Given the description of an element on the screen output the (x, y) to click on. 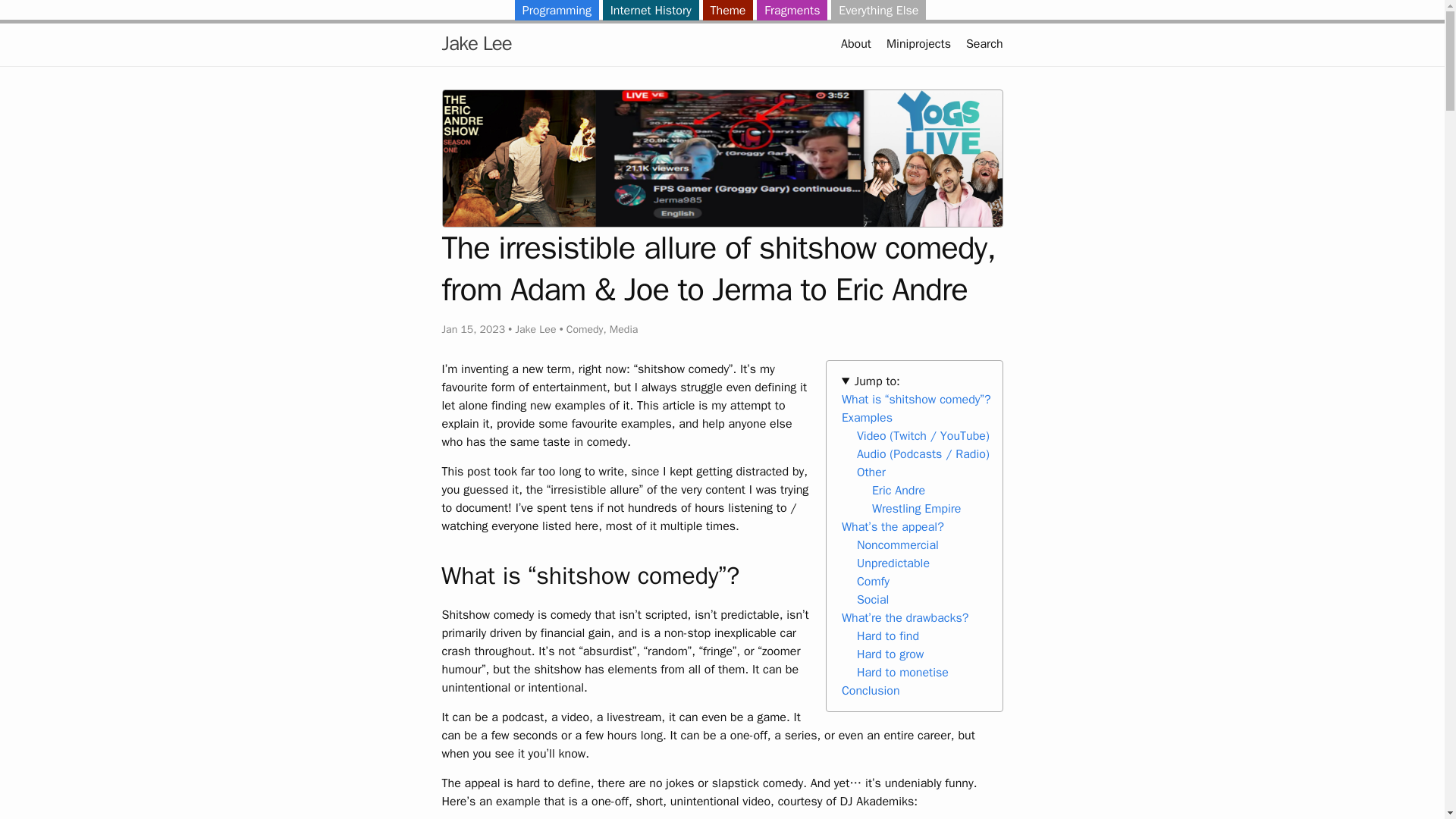
Conclusion (870, 690)
Theme (726, 10)
Noncommercial (898, 544)
Wrestling Empire (916, 508)
Hard to grow (890, 654)
Eric Andre (898, 490)
Everything Else (878, 10)
Internet History (650, 10)
Unpredictable (893, 563)
Hard to find (887, 635)
Search (984, 43)
About (855, 43)
Jake Lee (476, 43)
Comedy (585, 328)
Miniprojects (918, 43)
